Given the description of an element on the screen output the (x, y) to click on. 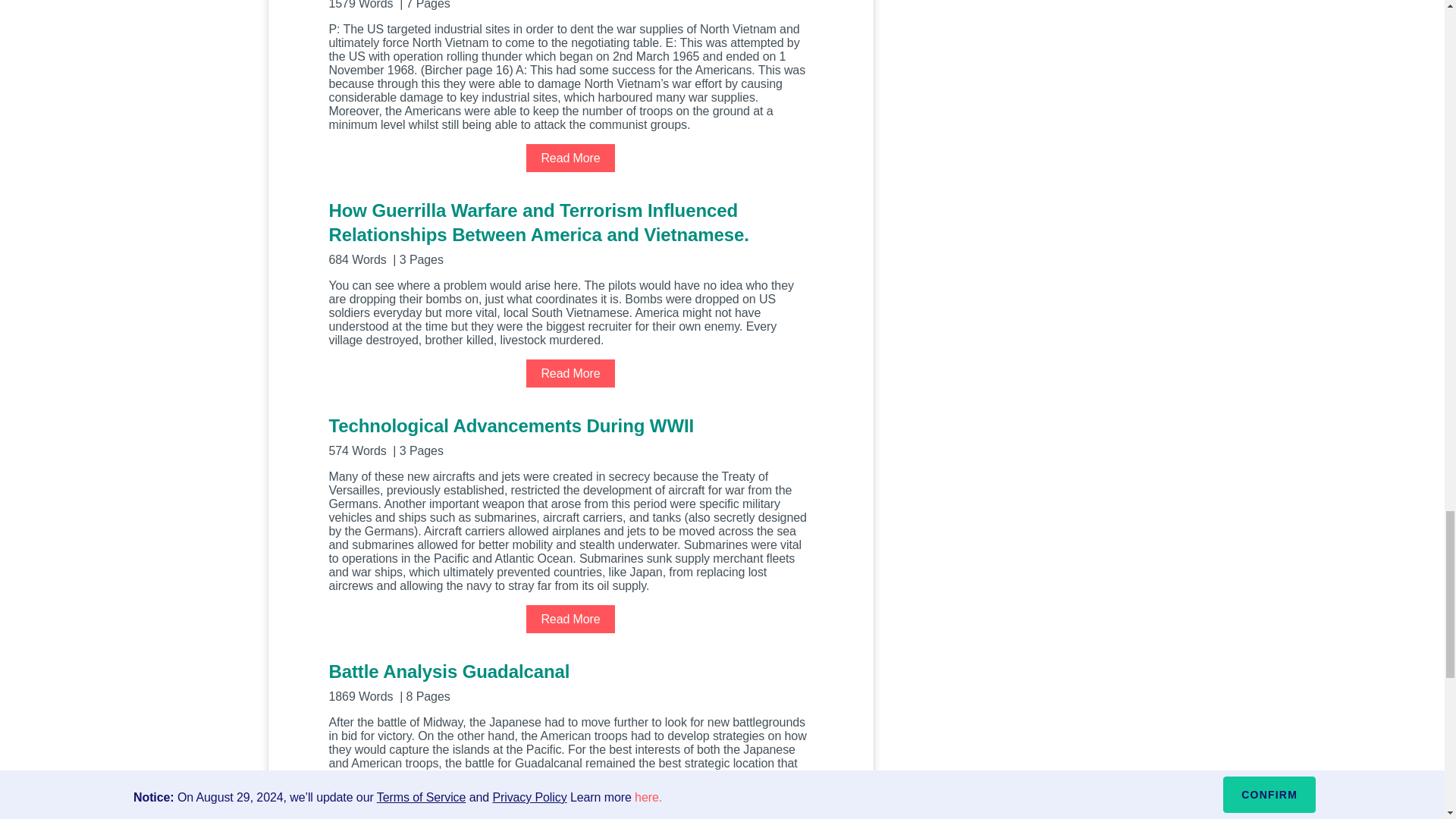
Read More (569, 619)
Technological Advancements During WWII (570, 435)
Read More (569, 373)
Battle Analysis Guadalcanal (570, 681)
Read More (569, 157)
